Given the description of an element on the screen output the (x, y) to click on. 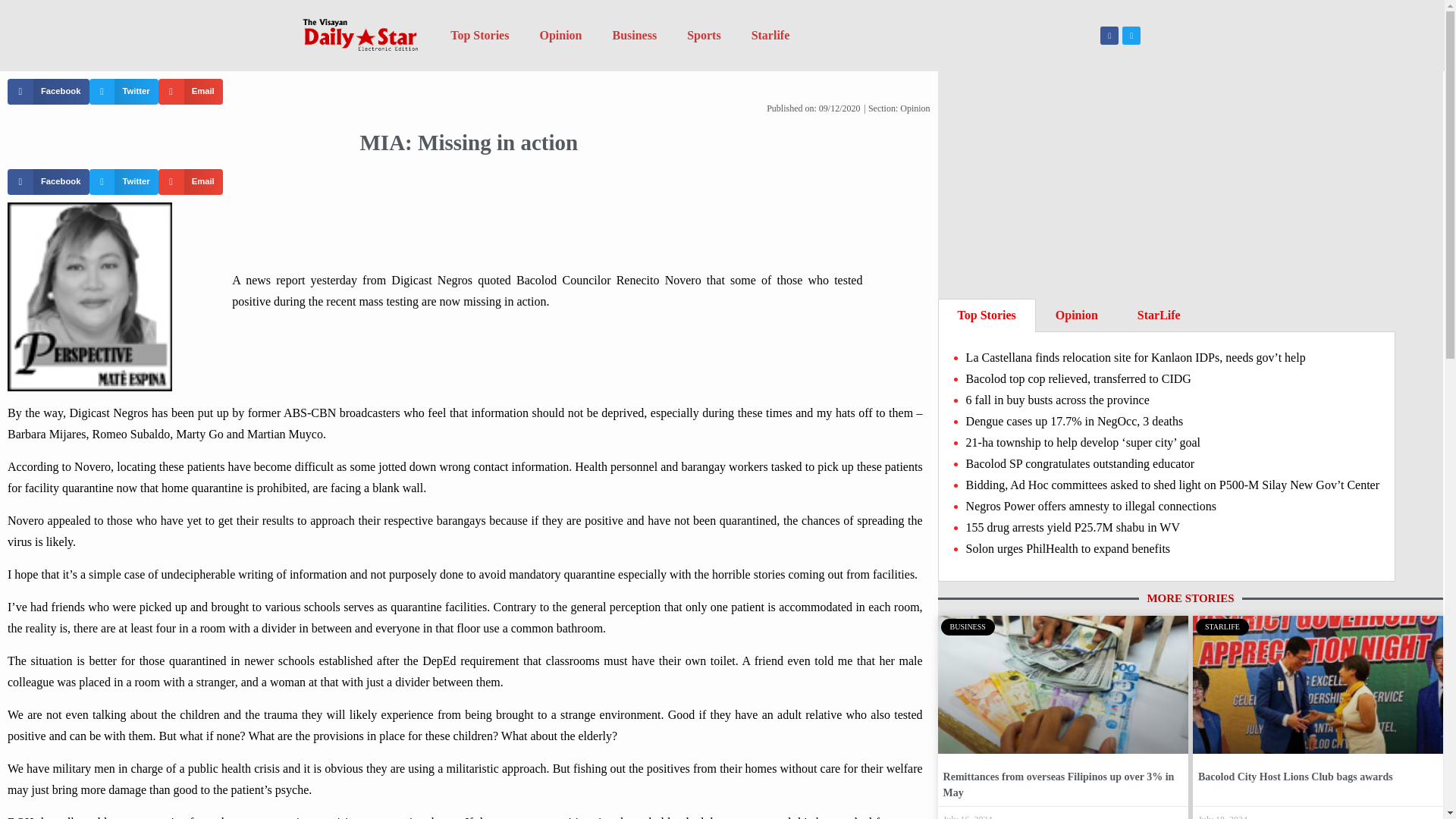
Sports (703, 35)
Advertisement (1189, 184)
Bacolod top cop relieved, transferred to CIDG (1078, 378)
6 fall in buy busts across the province (1058, 399)
Top Stories (987, 314)
StarLife (1158, 314)
Starlife (770, 35)
Business (633, 35)
Opinion (914, 108)
Top Stories (479, 35)
Opinion (1076, 314)
Opinion (560, 35)
